Given the description of an element on the screen output the (x, y) to click on. 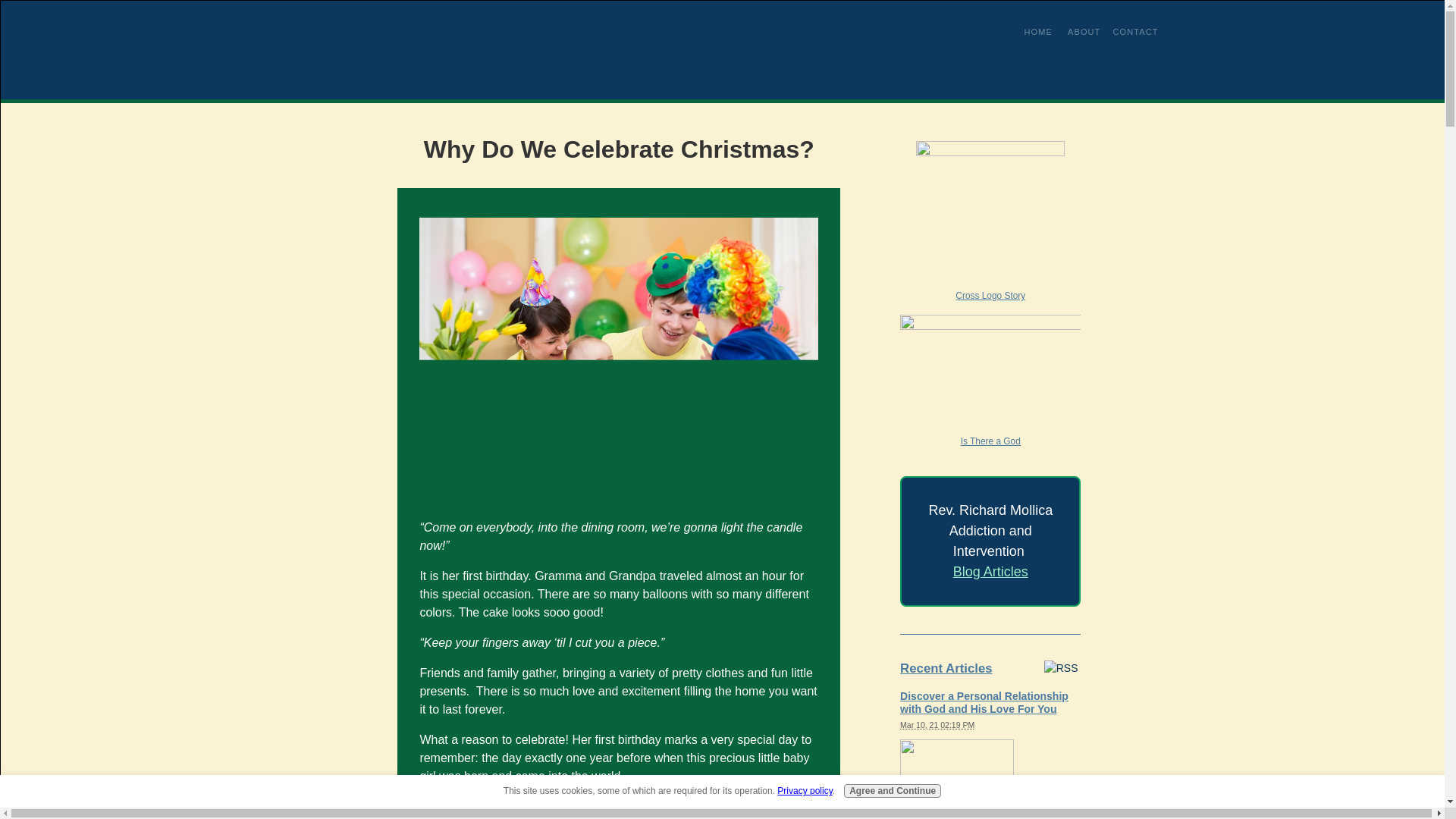
Recent Articles (945, 667)
First Birthday Party Preventative of Jesus Birthday (618, 350)
HOME (1037, 31)
Agree and Continue (892, 790)
Go to His Love For You Cross Logo (989, 224)
HIS LOVE FOR YOU (390, 49)
Blog Articles (990, 571)
CONTACT (1134, 31)
ABOUT (1083, 31)
Cross Logo Story (989, 224)
